Given the description of an element on the screen output the (x, y) to click on. 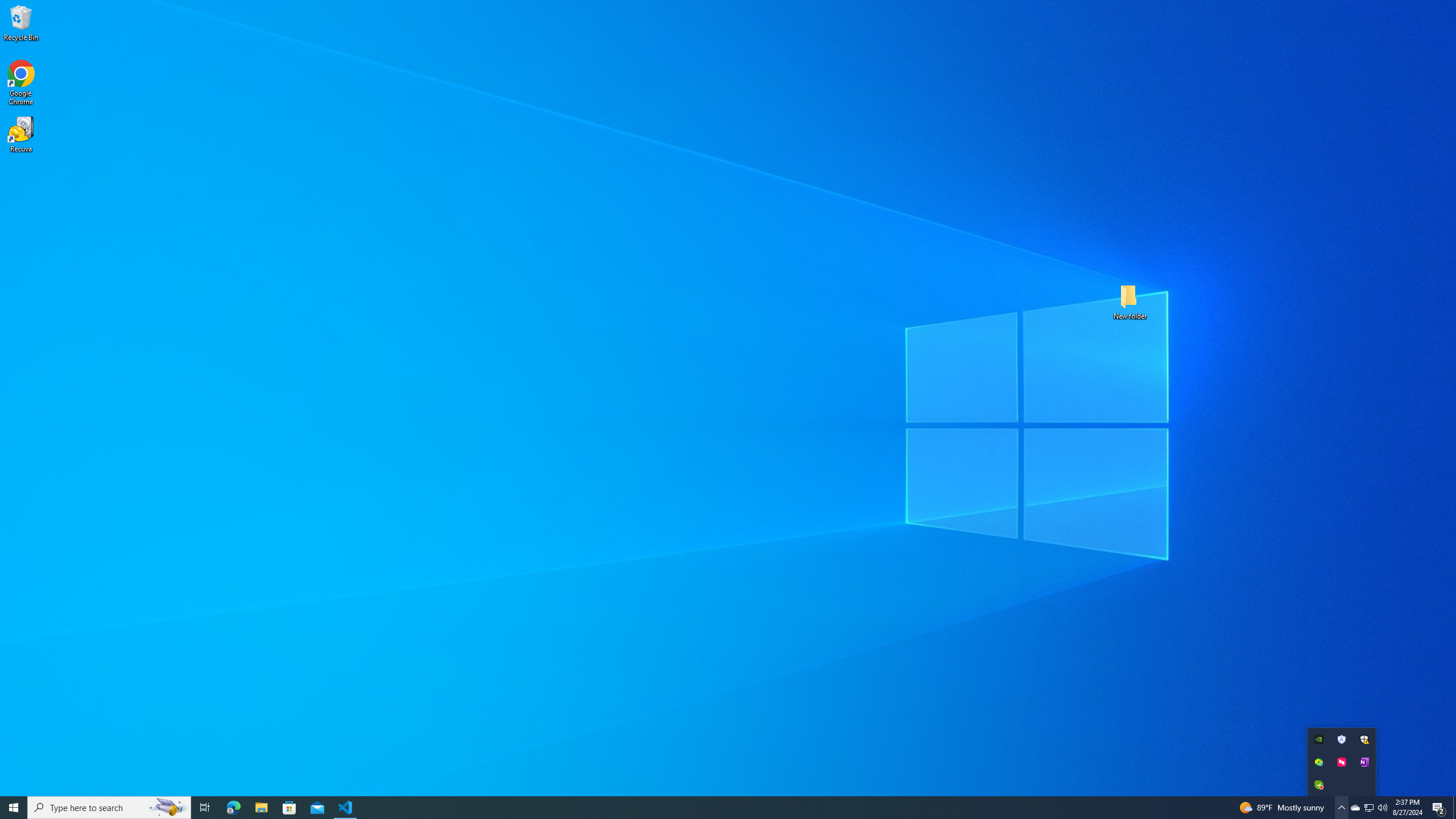
Overflow Notification Area (1341, 762)
